Given the description of an element on the screen output the (x, y) to click on. 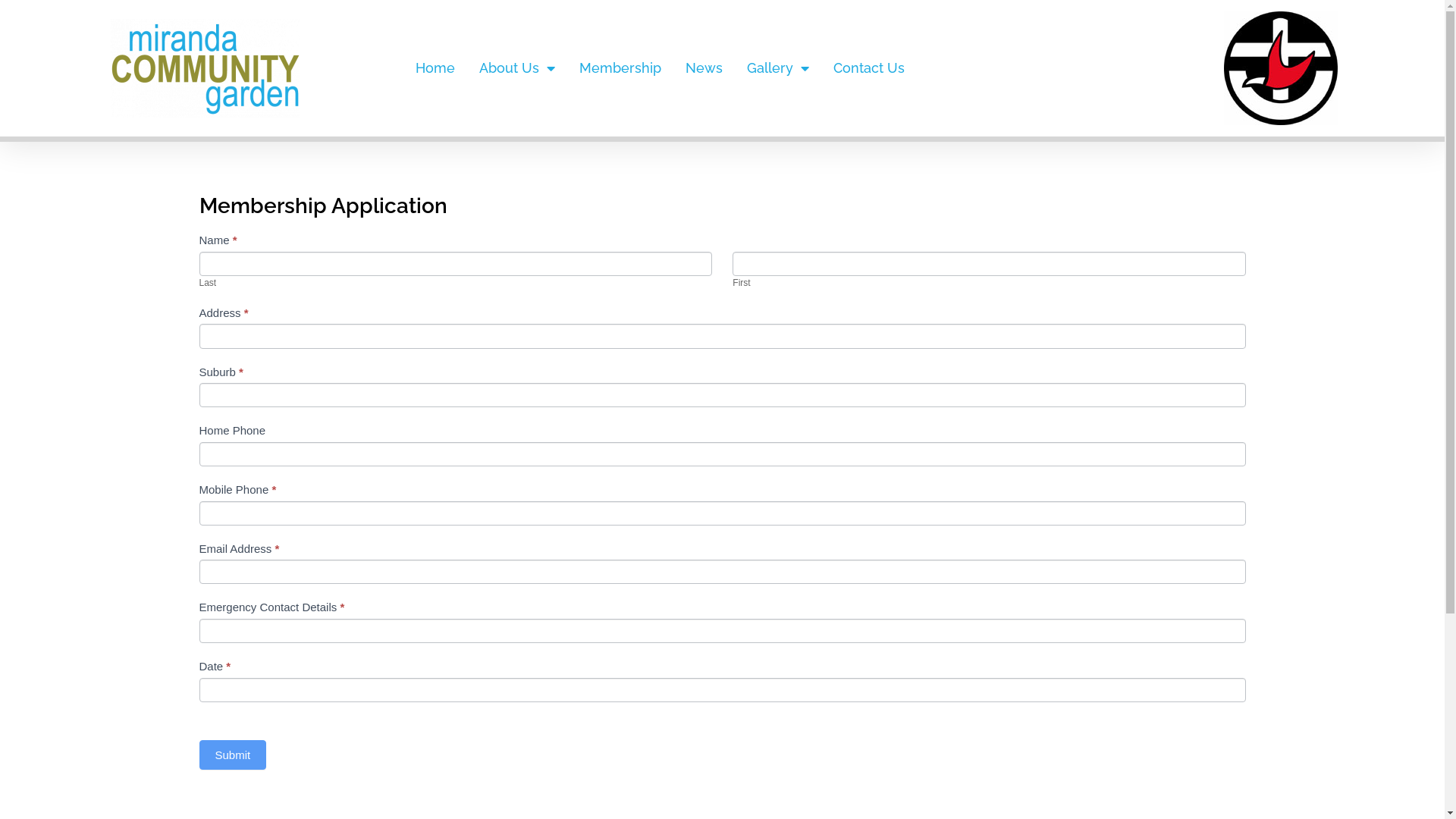
Submit Element type: text (232, 754)
Contact Us Element type: text (868, 67)
About Us Element type: text (517, 67)
Gallery Element type: text (777, 67)
News Element type: text (703, 67)
Membership Element type: text (620, 67)
Home Element type: text (435, 67)
